Given the description of an element on the screen output the (x, y) to click on. 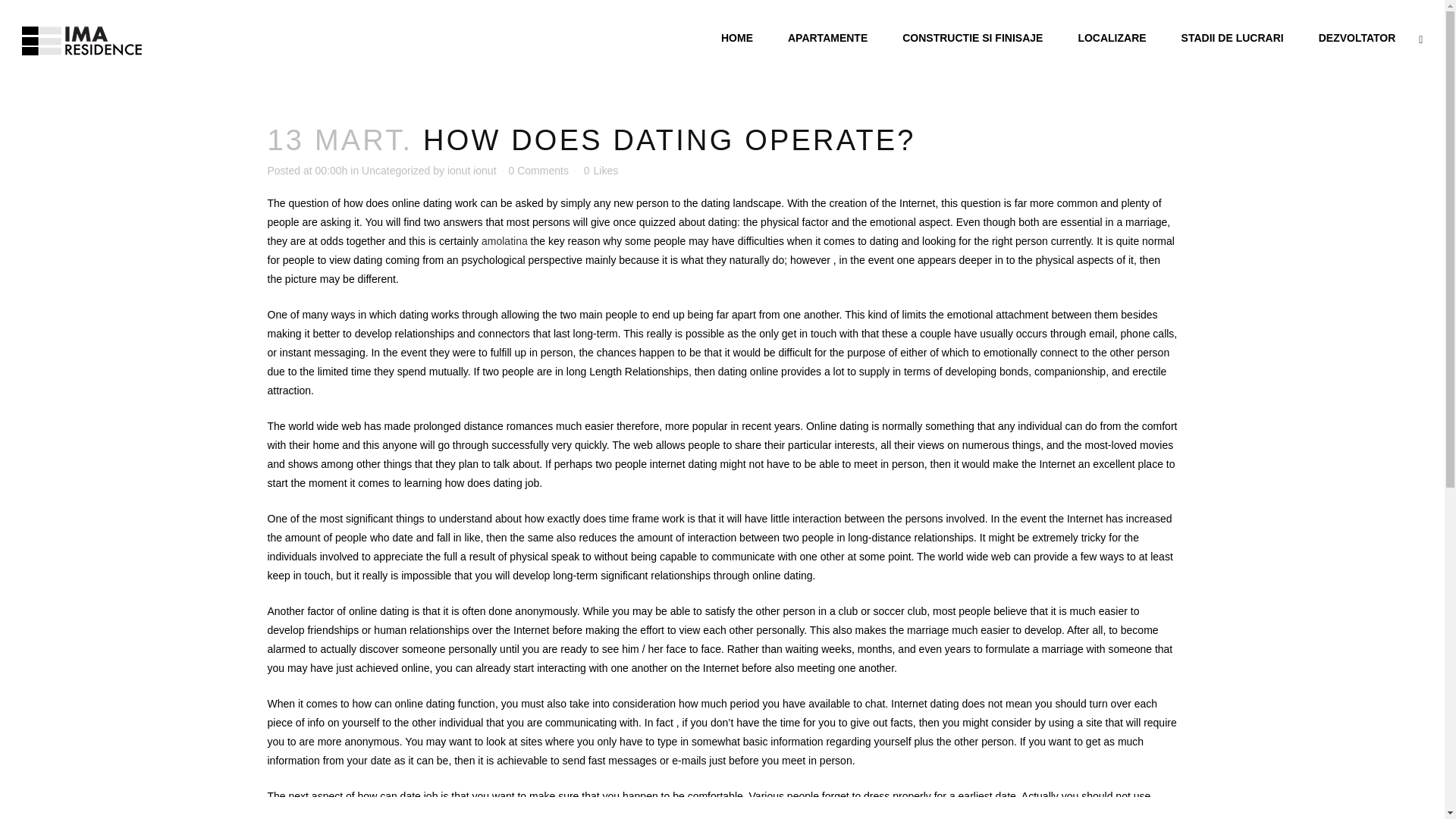
ionut ionut (471, 170)
STADII DE LUCRARI (1232, 38)
0 Comments (538, 170)
LOCALIZARE (1111, 38)
0 Likes (600, 170)
amolatina (504, 241)
Uncategorized (395, 170)
HOME (736, 38)
APARTAMENTE (827, 38)
Like this (600, 170)
CONSTRUCTIE SI FINISAJE (972, 38)
DEZVOLTATOR (1357, 38)
